Given the description of an element on the screen output the (x, y) to click on. 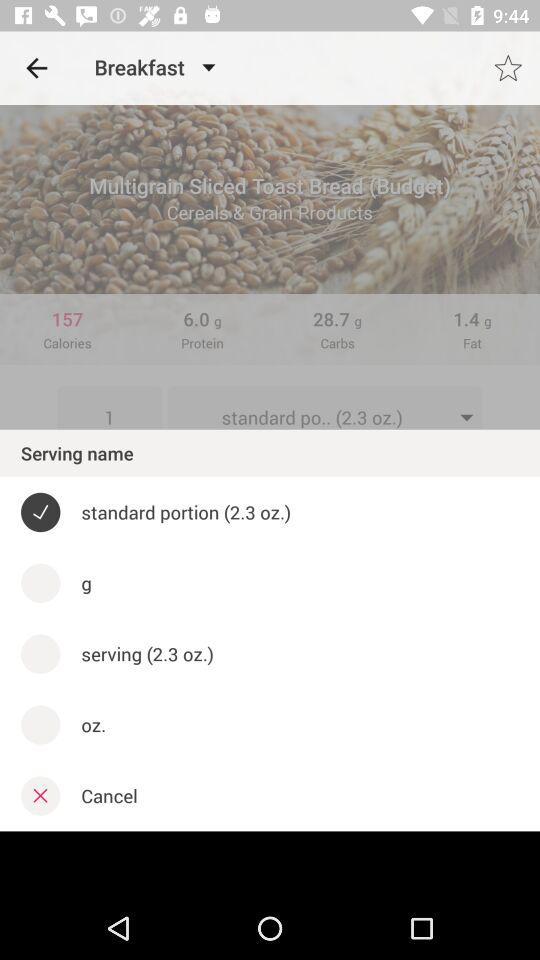
click on the checkbox beside serving 23 oz (40, 653)
